Given the description of an element on the screen output the (x, y) to click on. 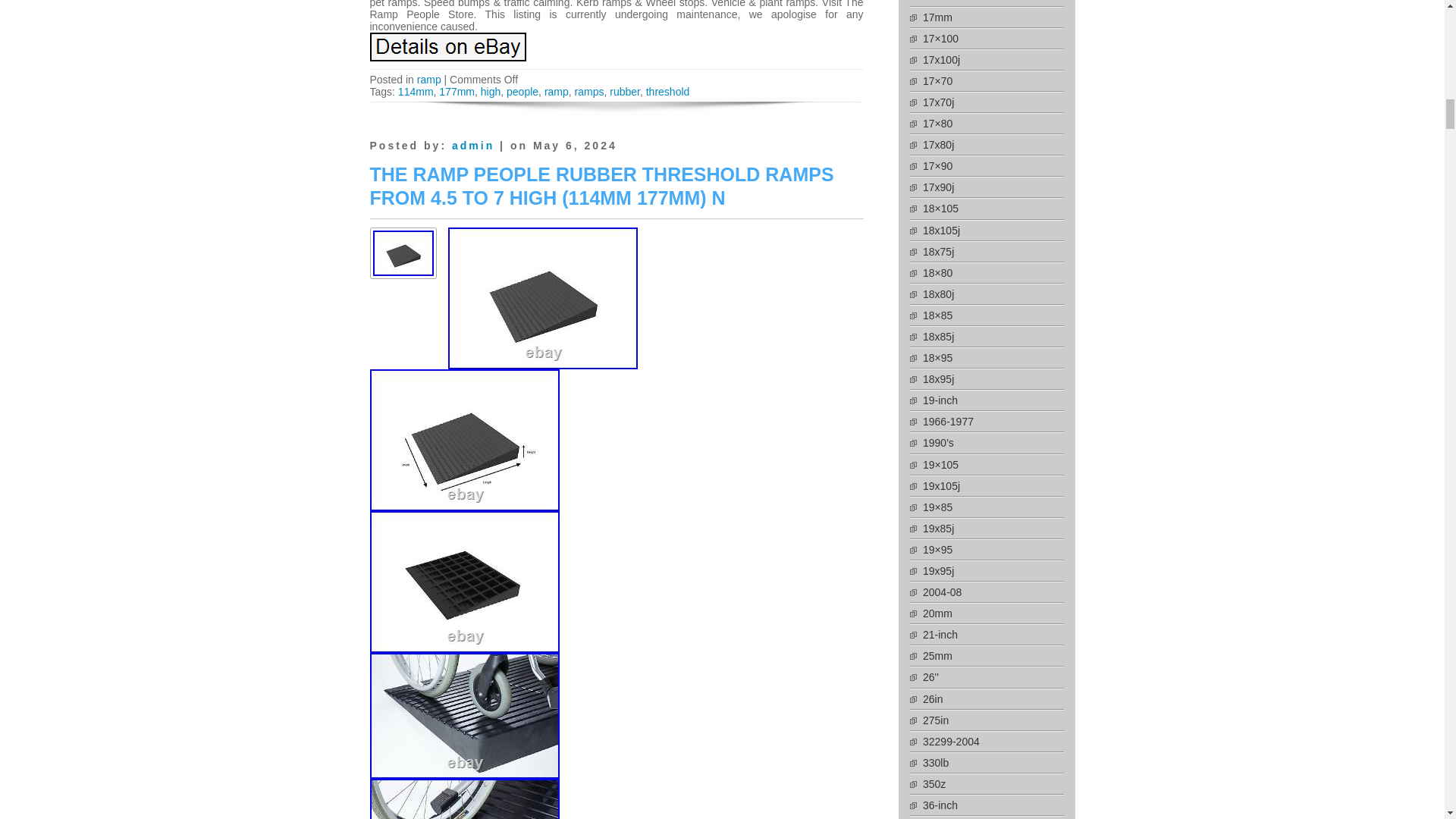
people (522, 91)
114mm (415, 91)
177mm (456, 91)
ramp (556, 91)
threshold (668, 91)
Posts by admin (473, 145)
high (490, 91)
rubber (625, 91)
ramps (589, 91)
admin (473, 145)
